Given the description of an element on the screen output the (x, y) to click on. 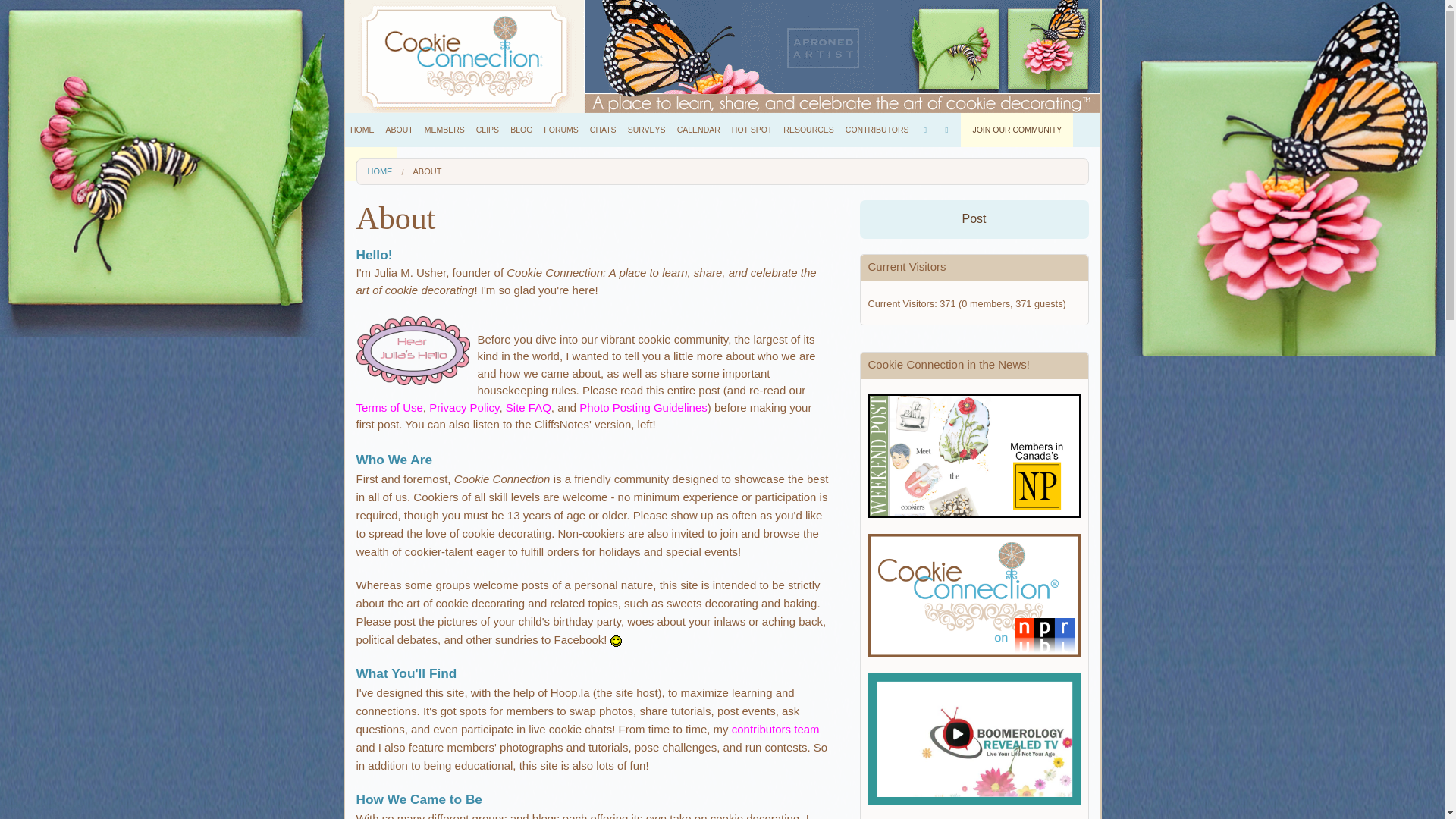
Terms of Use (399, 328)
About (399, 162)
Advertising (399, 272)
BLOG (521, 130)
Videos (486, 272)
All Sets (486, 216)
Files (486, 328)
View All (486, 162)
Site FAQ (399, 300)
View Featured (486, 189)
